Given the description of an element on the screen output the (x, y) to click on. 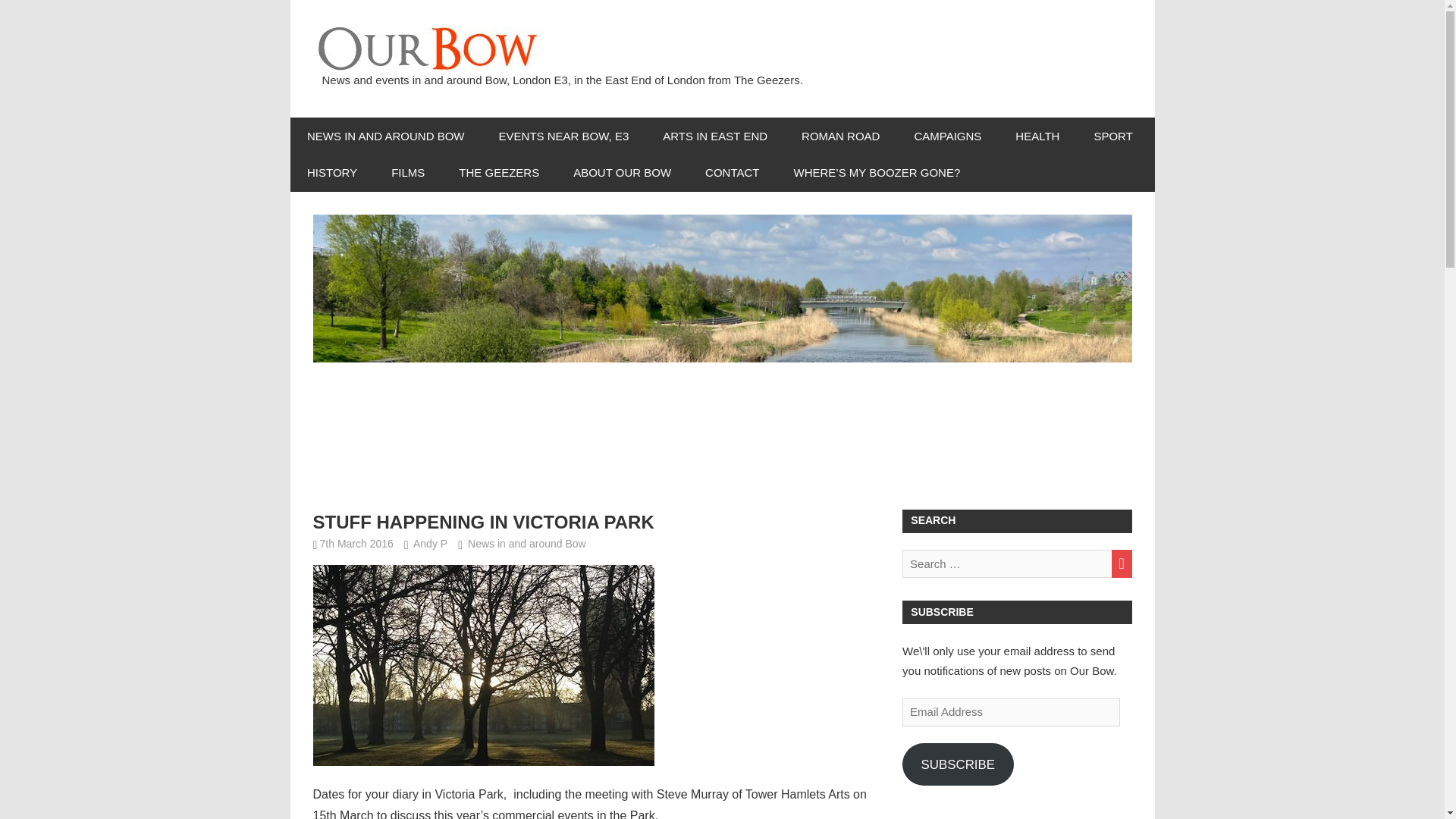
ROMAN ROAD (840, 135)
THE GEEZERS (499, 172)
FILMS (408, 172)
Search for: (1016, 563)
CONTACT (732, 172)
ARTS IN EAST END (715, 135)
3:53 pm (356, 543)
News in and around Bow (526, 543)
NEWS IN AND AROUND BOW (385, 135)
ABOUT OUR BOW (622, 172)
